Given the description of an element on the screen output the (x, y) to click on. 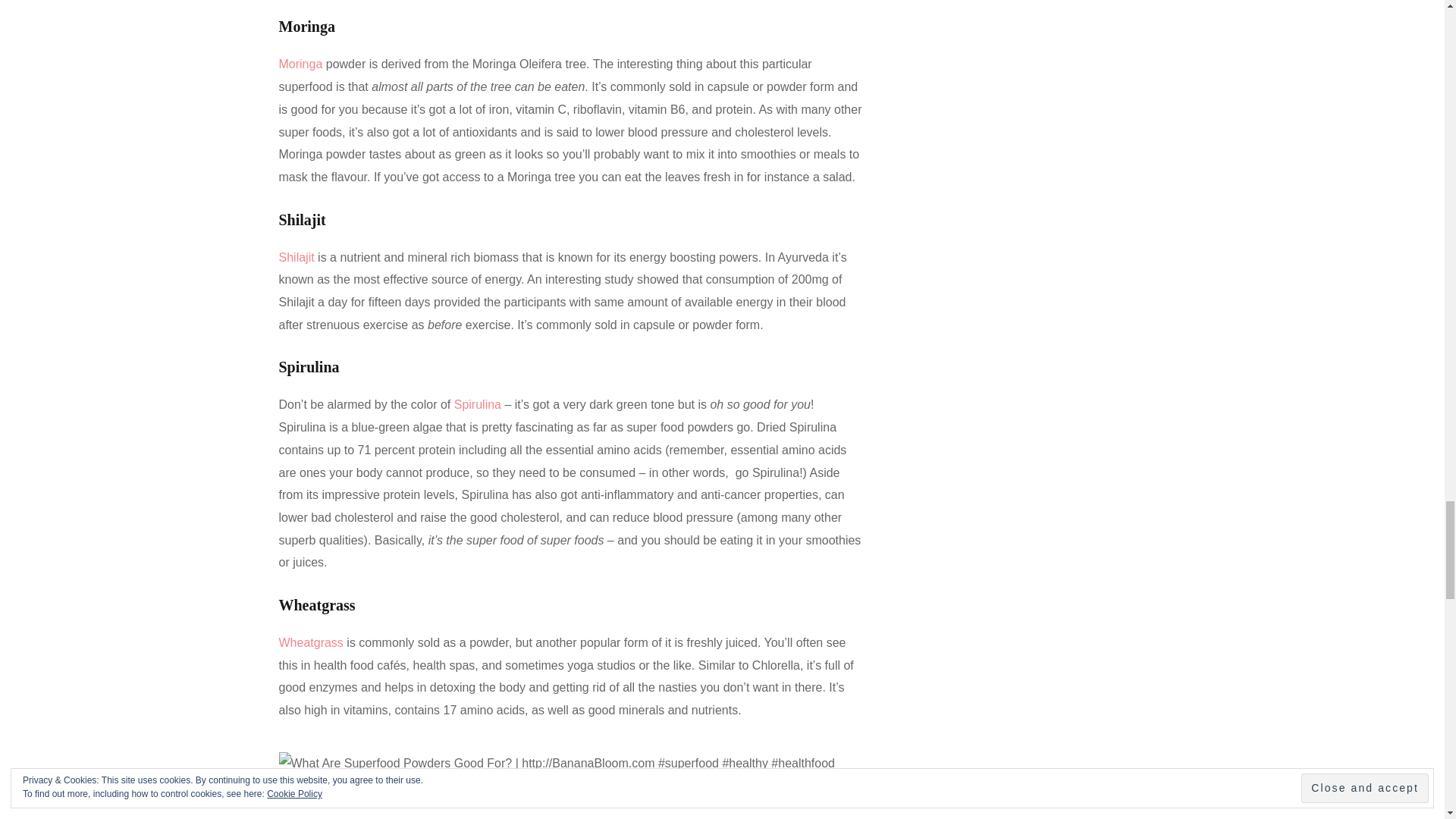
Wheatgrass (311, 642)
Moringa (301, 63)
Spirulina (477, 404)
Shilajit (296, 256)
